Given the description of an element on the screen output the (x, y) to click on. 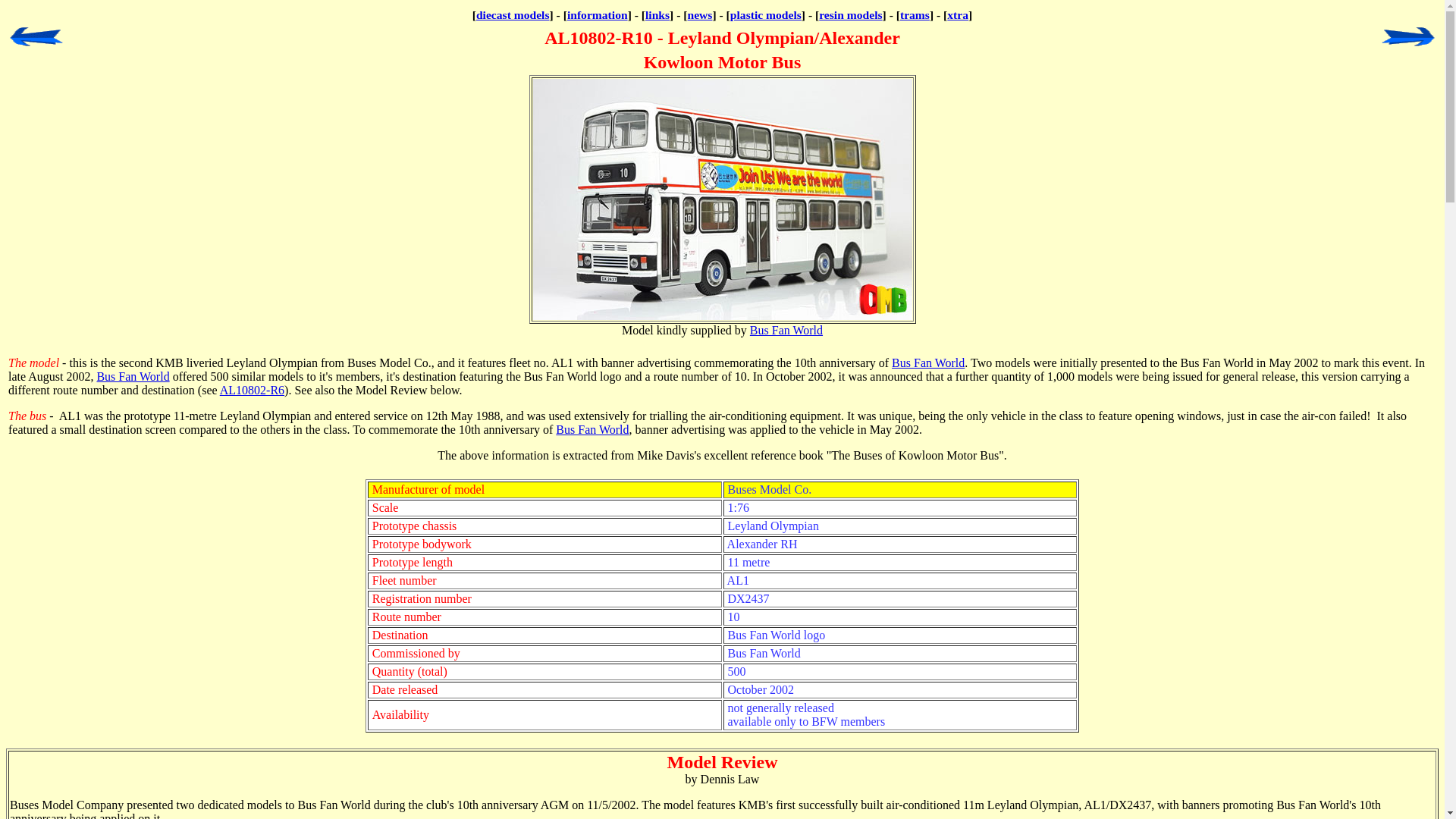
information (597, 14)
Bus Fan World (927, 362)
xtra (957, 14)
trams (914, 14)
Bus Fan World (132, 376)
links (657, 14)
diecast models (513, 14)
Bus Fan World (785, 329)
AL10802-R6 (251, 390)
news (699, 14)
